Given the description of an element on the screen output the (x, y) to click on. 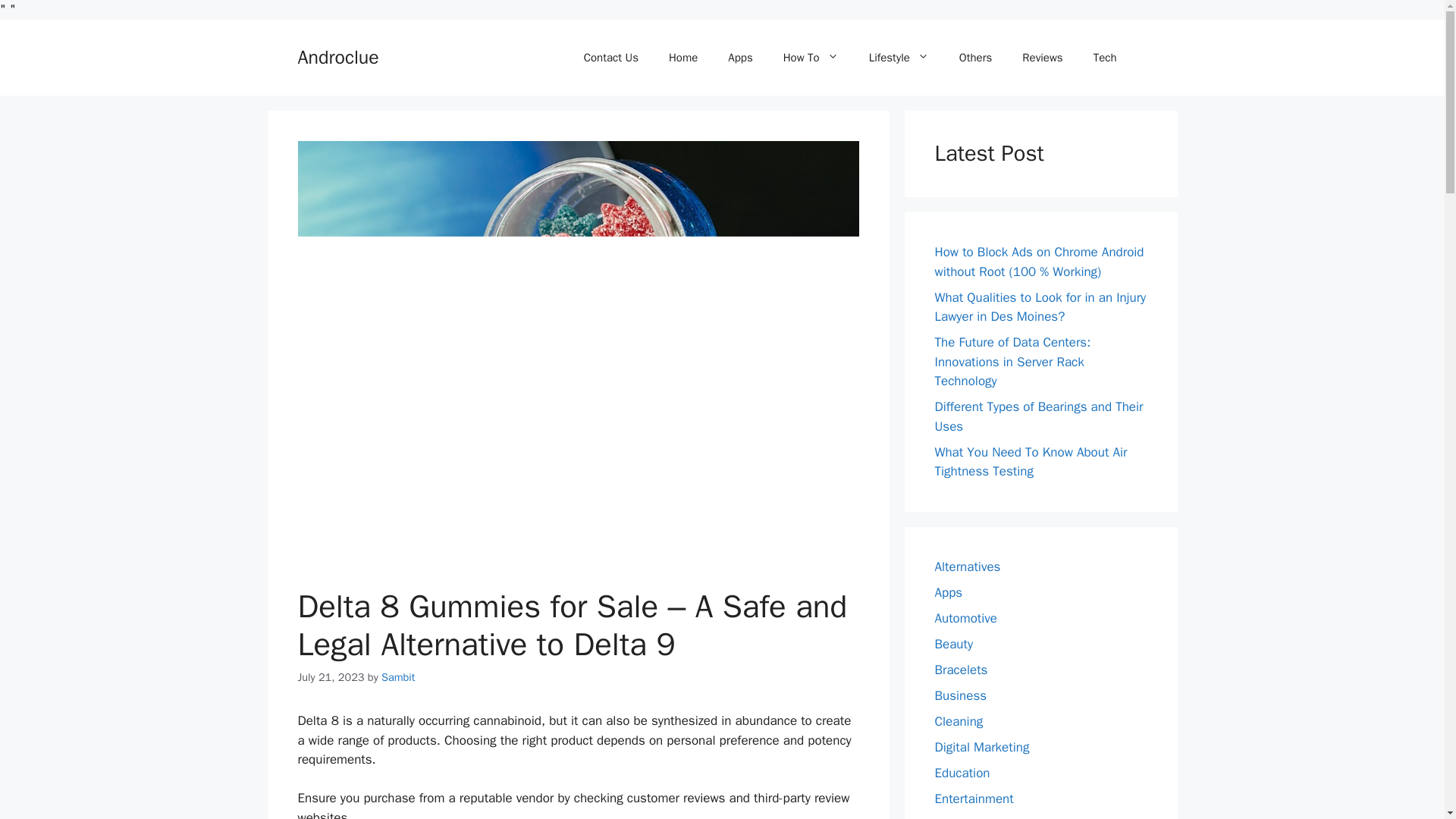
Lifestyle (898, 57)
Beauty (953, 643)
Bracelets (960, 669)
Entertainment (973, 798)
Others (975, 57)
How To (810, 57)
Contact Us (611, 57)
Digital Marketing (981, 747)
Fashion (956, 817)
Alternatives (967, 566)
Automotive (965, 618)
Cleaning (958, 721)
View all posts by Sambit (397, 676)
